Given the description of an element on the screen output the (x, y) to click on. 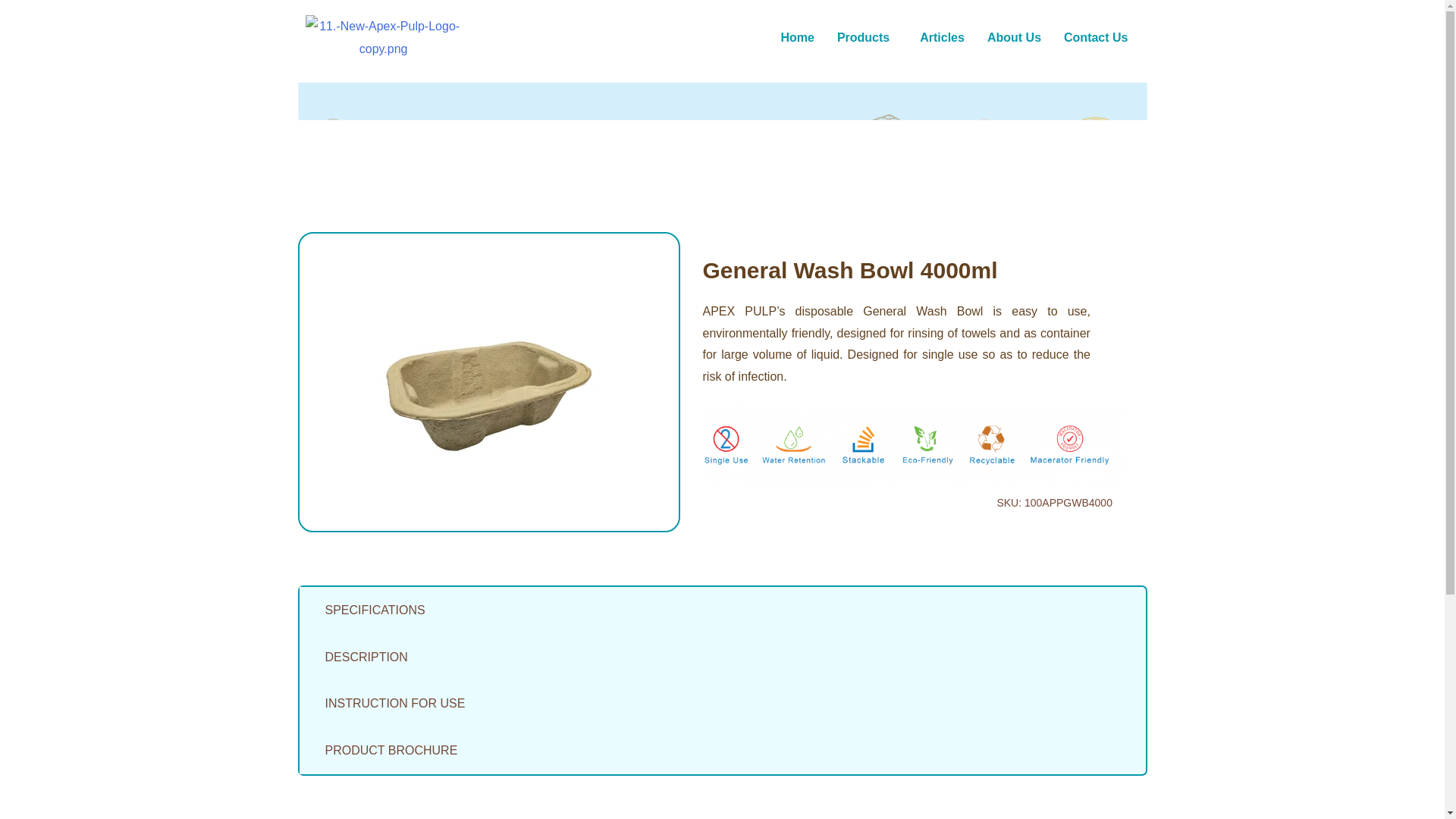
Home (796, 37)
Products (866, 37)
Contact Us (1095, 37)
11.-New-Apex-Pulp-Logo-copy.png (382, 37)
Articles (941, 37)
About Us (1013, 37)
